Given the description of an element on the screen output the (x, y) to click on. 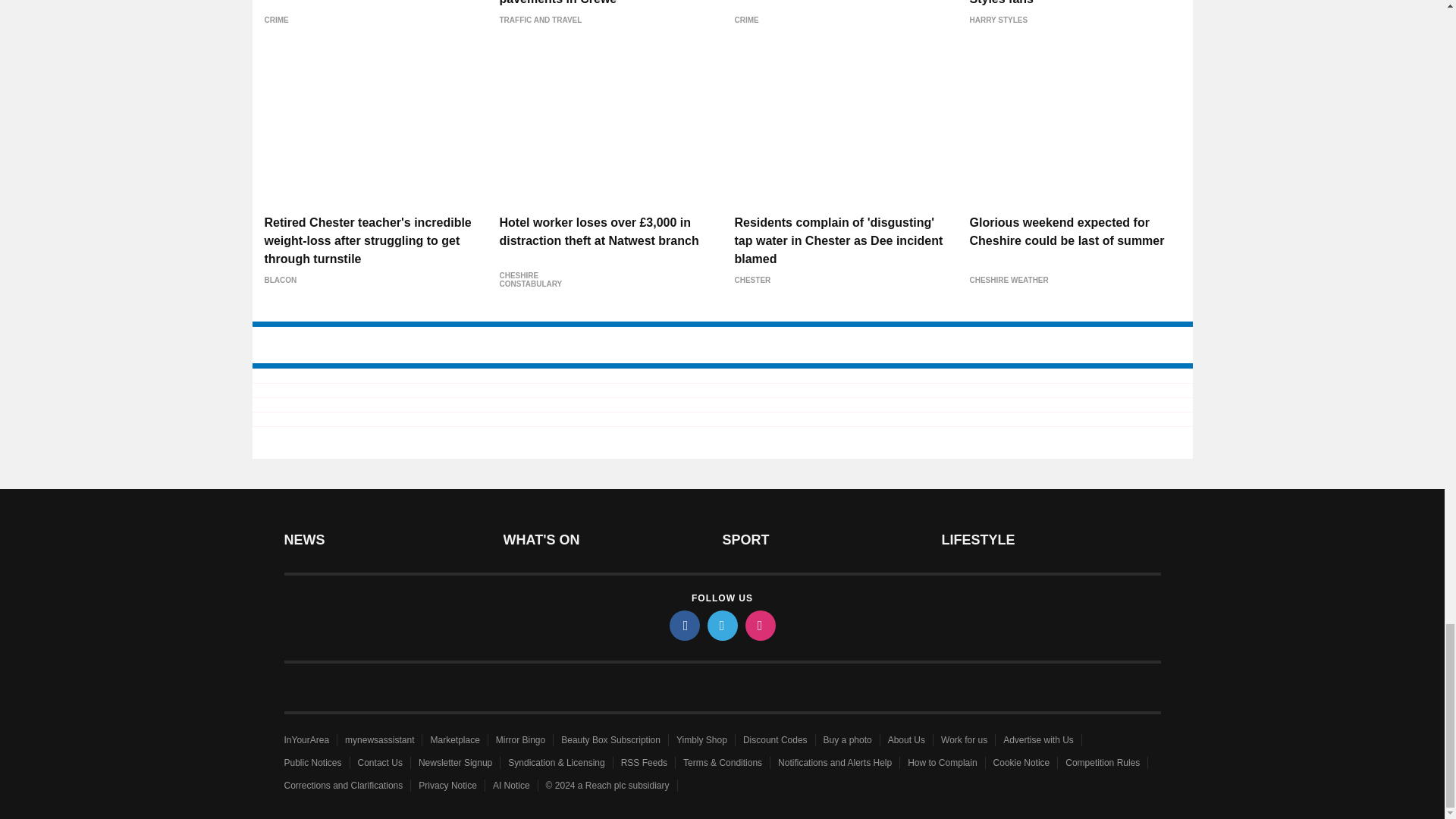
twitter (721, 625)
facebook (683, 625)
instagram (759, 625)
